Given the description of an element on the screen output the (x, y) to click on. 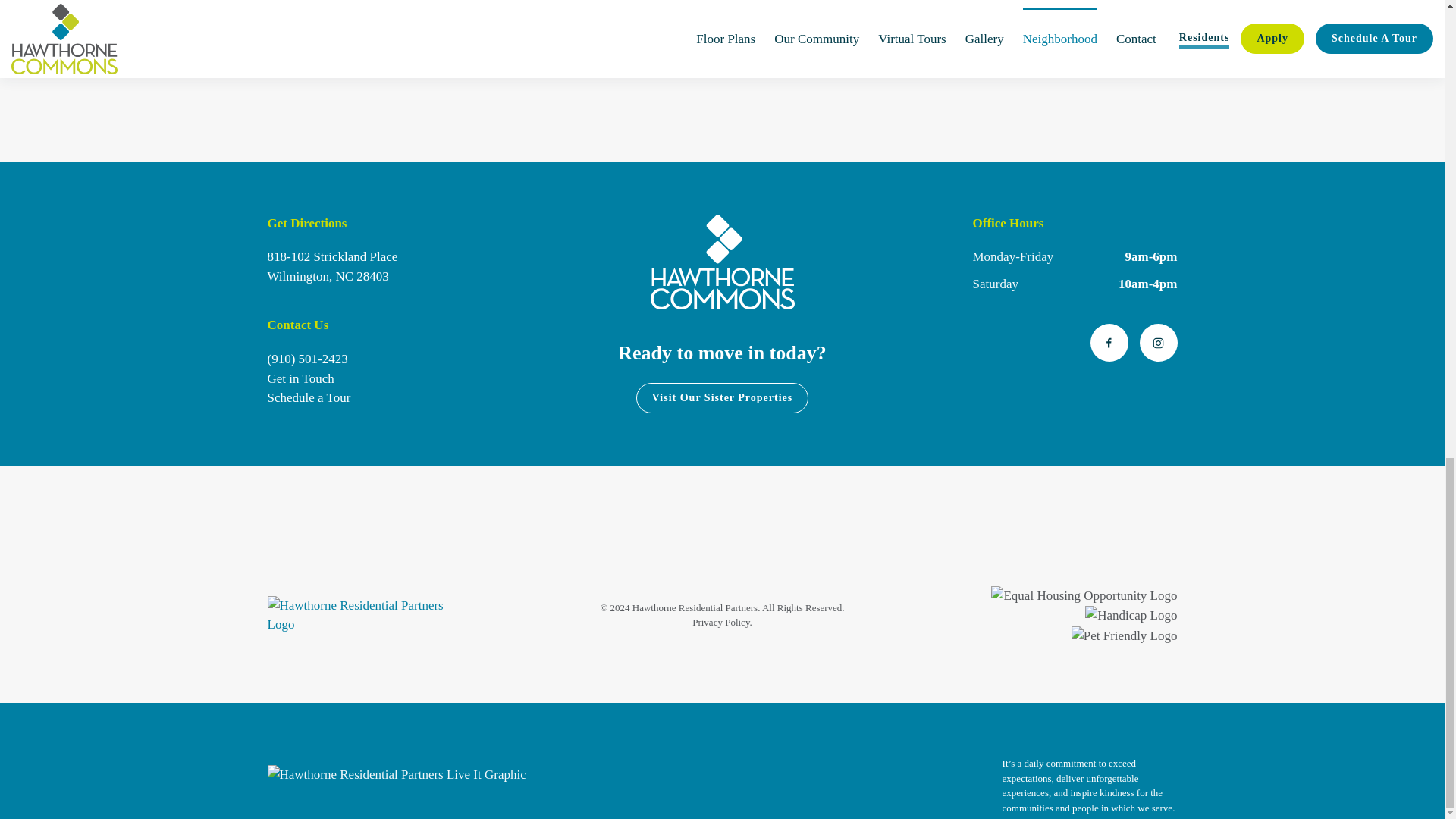
Visit Our Sister Properties (722, 398)
Get in Touch (331, 266)
Schedule a Tour (299, 378)
